Given the description of an element on the screen output the (x, y) to click on. 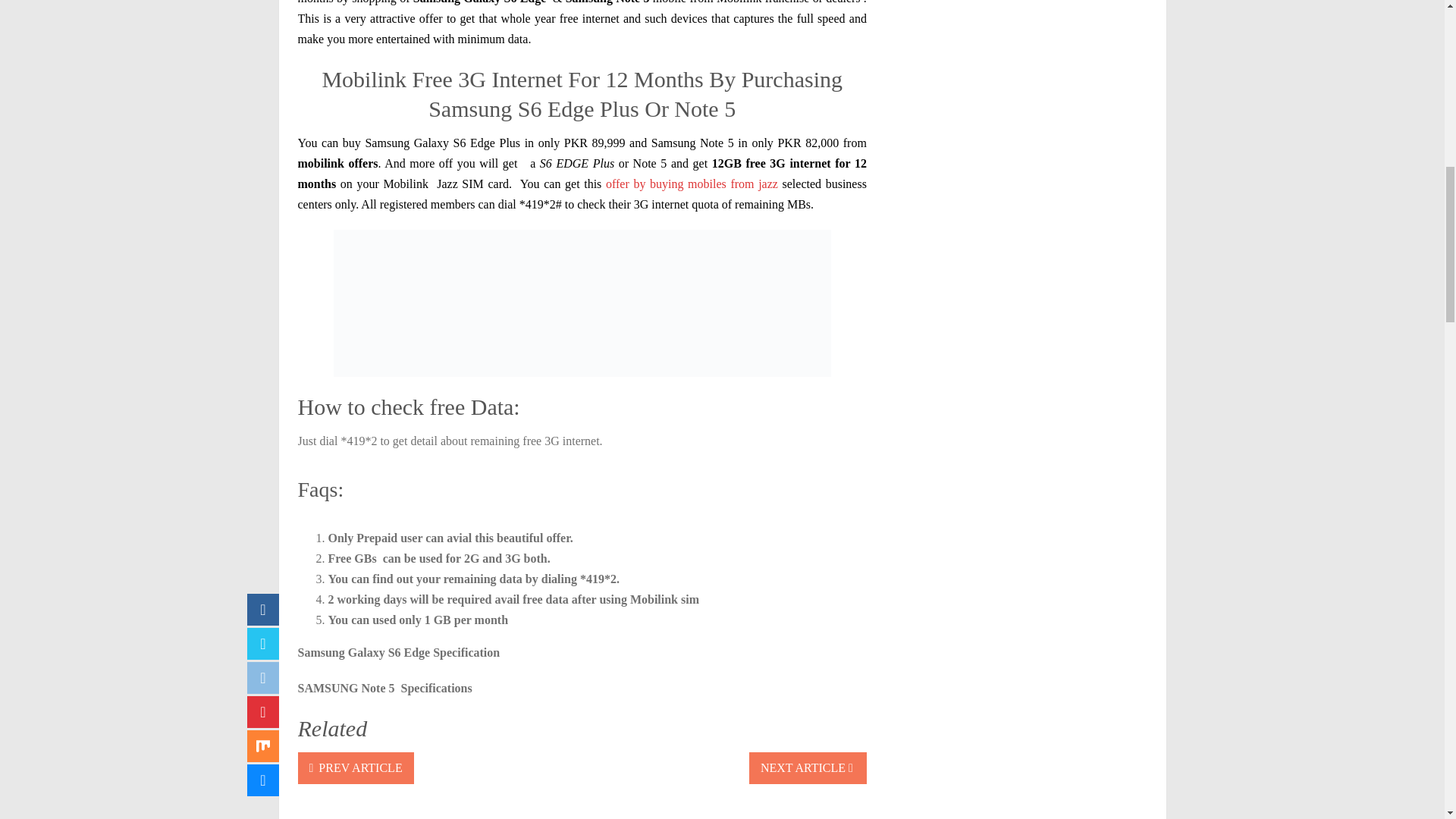
Mobilink Get a Free Minute back on Every Call Drop (337, 163)
PREV ARTICLE (355, 767)
mobilink offers (337, 163)
offer by buying mobiles from jazz (691, 183)
NEXT ARTICLE (807, 767)
